Given the description of an element on the screen output the (x, y) to click on. 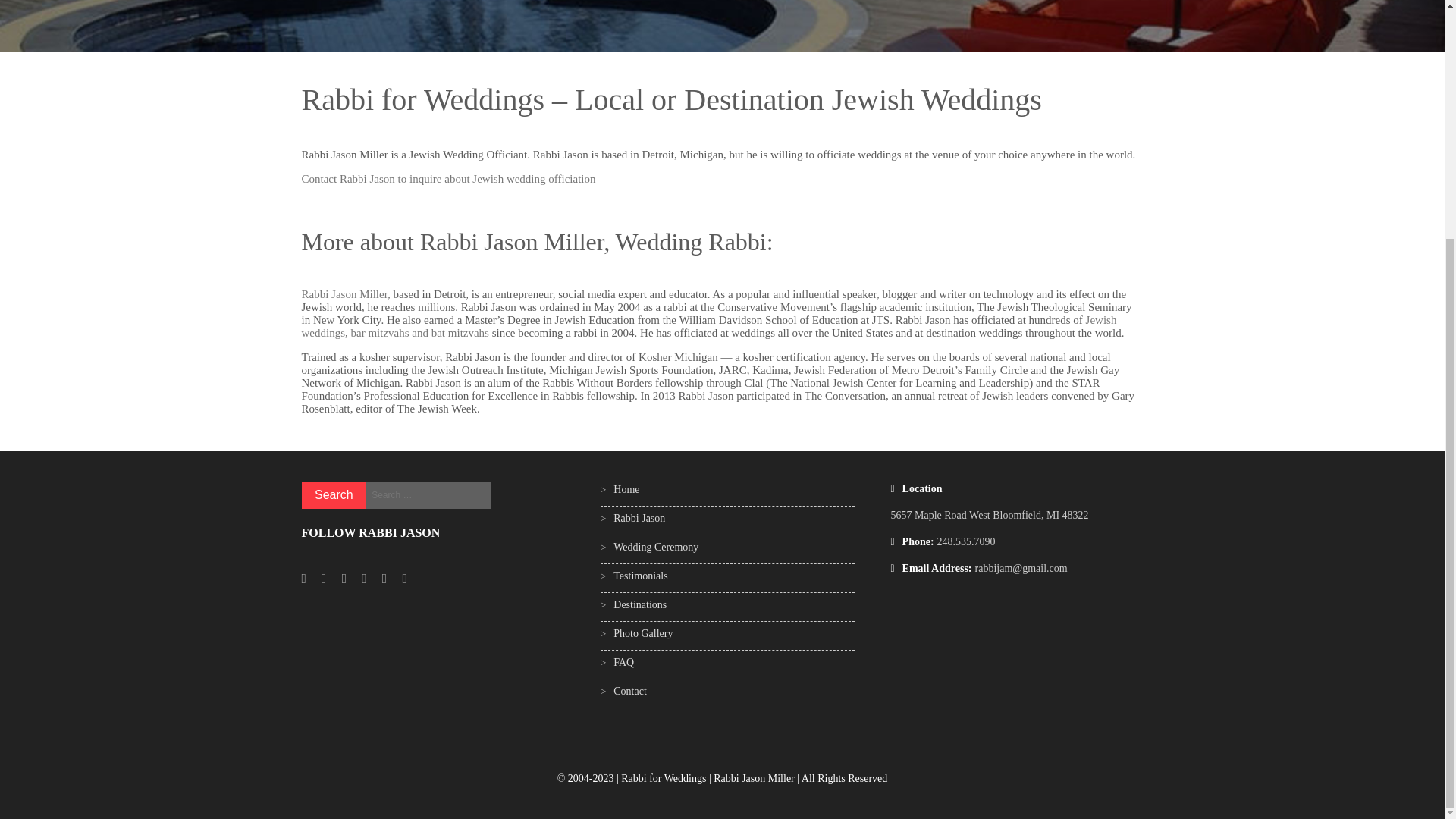
Search (333, 494)
bar mitzvahs and bat mitzvahs (418, 332)
Photo Gallery (642, 633)
Home (625, 489)
Search (333, 494)
Wedding Ceremony (655, 546)
Destinations (639, 604)
Testimonials (639, 575)
Rabbi Jason Miller (344, 294)
Search (333, 494)
Jewish Weddings (655, 546)
Jewish weddings (708, 326)
Contact (629, 690)
FAQ (622, 662)
